Given the description of an element on the screen output the (x, y) to click on. 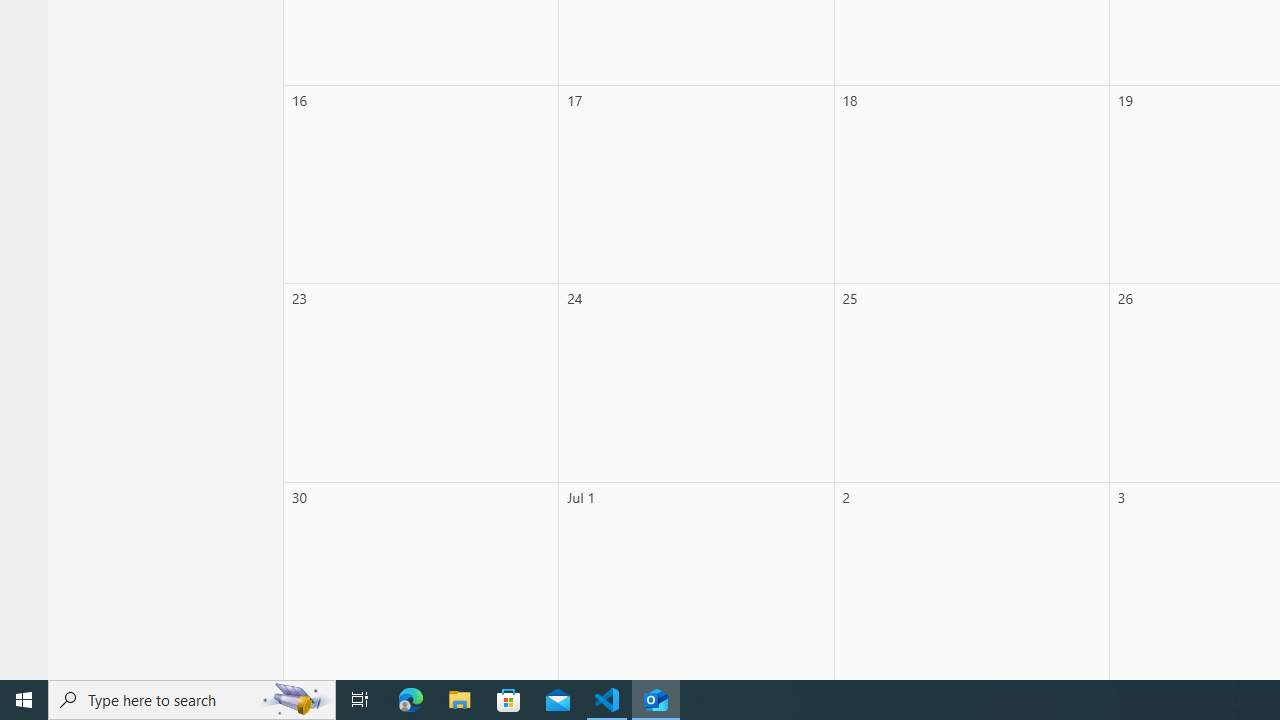
Outlook (new) - 1 running window (656, 699)
